Given the description of an element on the screen output the (x, y) to click on. 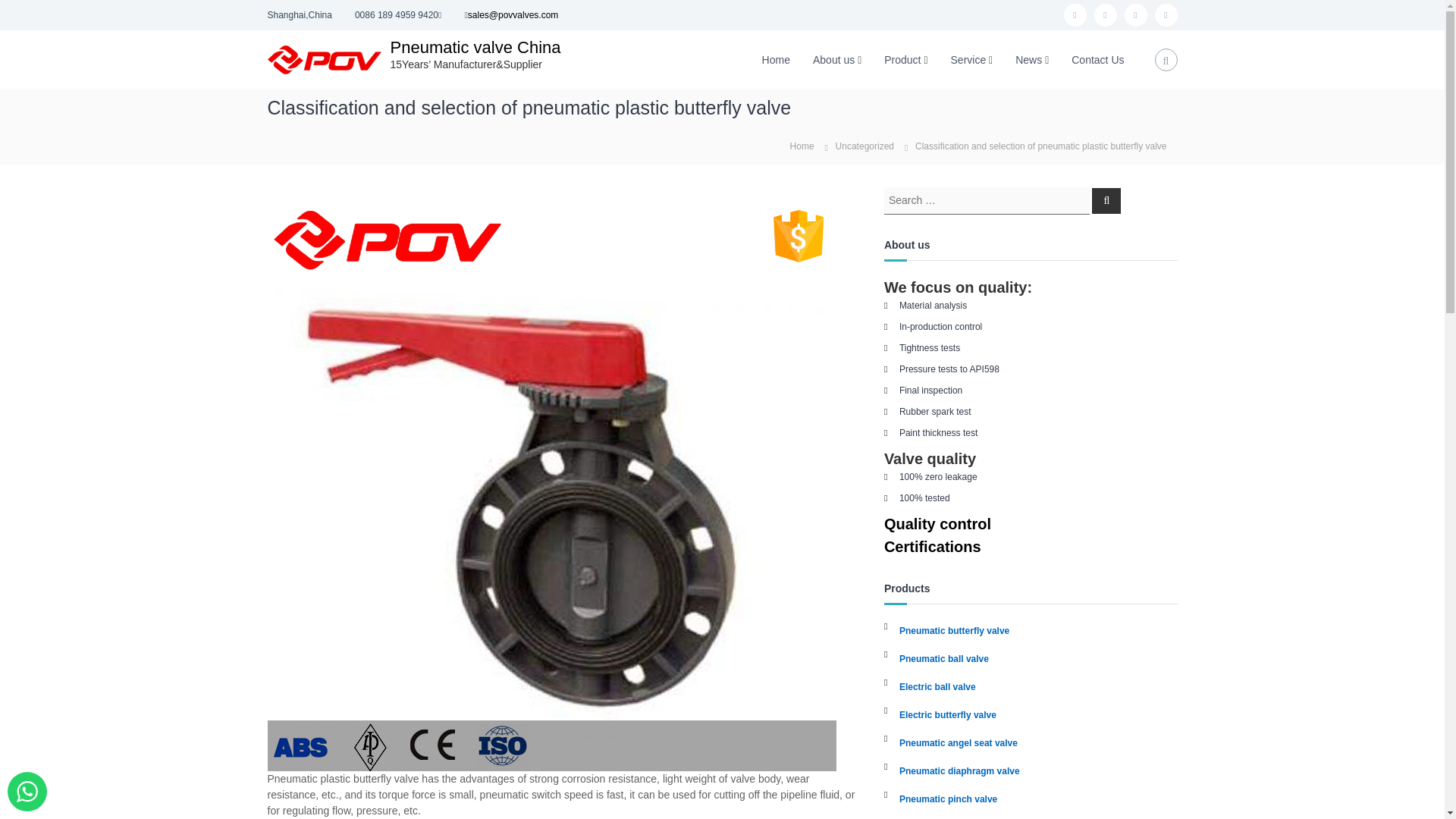
Product (901, 59)
youtube (1135, 15)
Home (801, 145)
Service (968, 59)
Home (775, 59)
News (1028, 59)
facebook (1074, 15)
Contact Us (1097, 59)
instagram (1104, 15)
WhatsApp us (26, 791)
Pneumatic valve China (475, 46)
linkedin (1165, 15)
About us (833, 59)
